Given the description of an element on the screen output the (x, y) to click on. 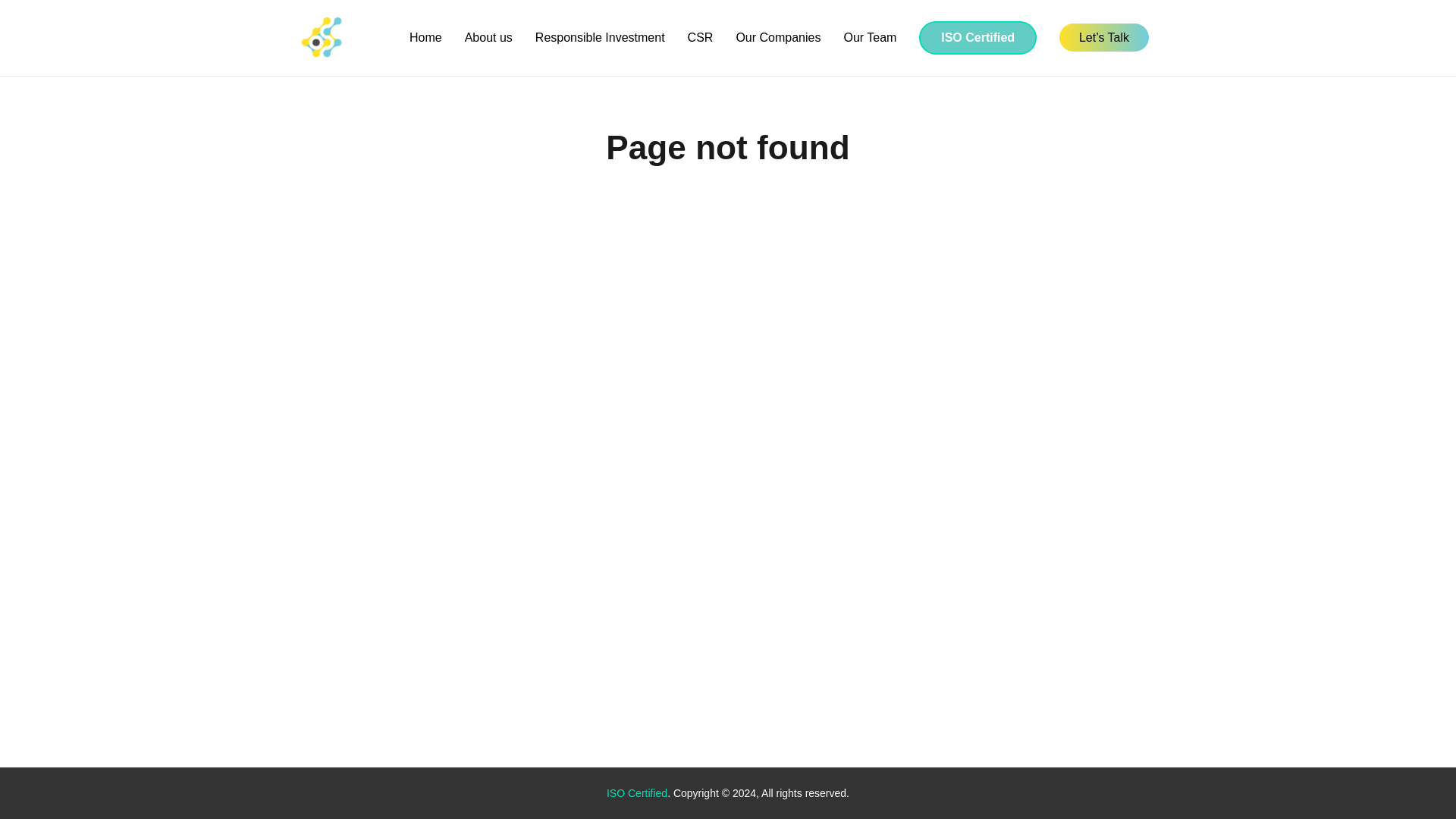
ISO Certified (977, 38)
Responsible Investment (600, 38)
Our Team (869, 38)
ISO Certified (636, 793)
About us (488, 38)
Our Companies (777, 38)
